Given the description of an element on the screen output the (x, y) to click on. 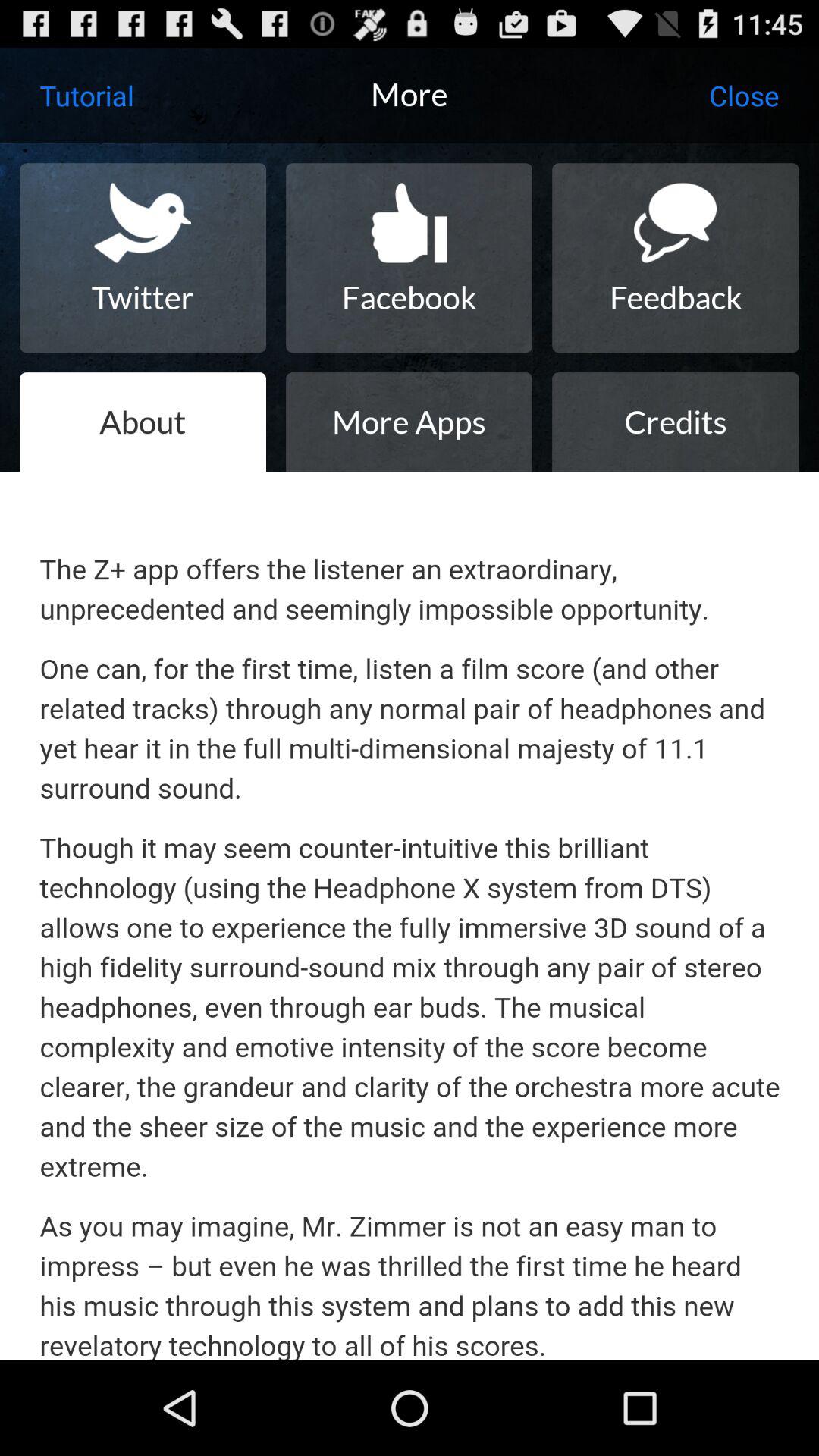
press icon below facebook item (409, 422)
